Given the description of an element on the screen output the (x, y) to click on. 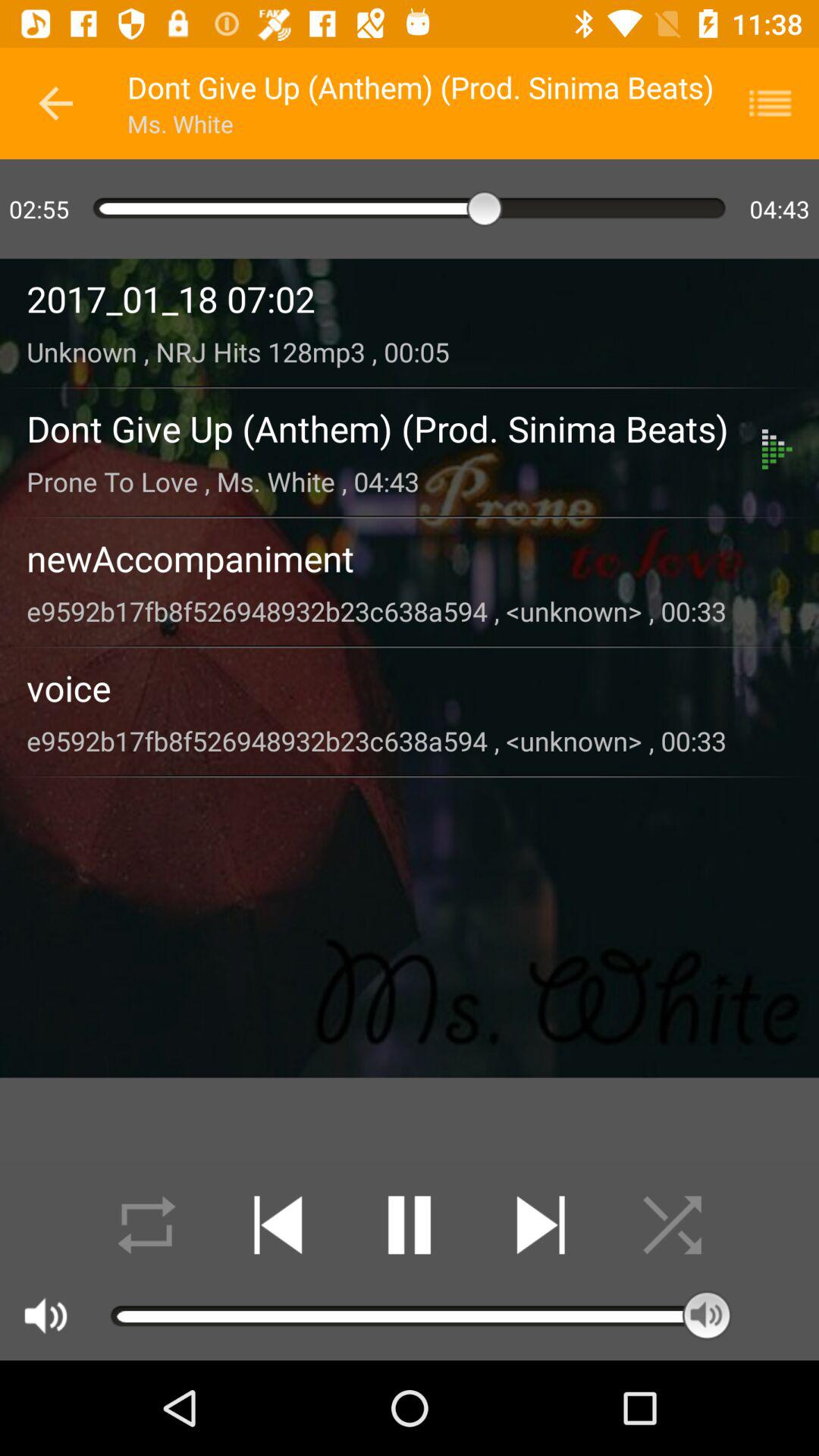
more options (779, 103)
